Given the description of an element on the screen output the (x, y) to click on. 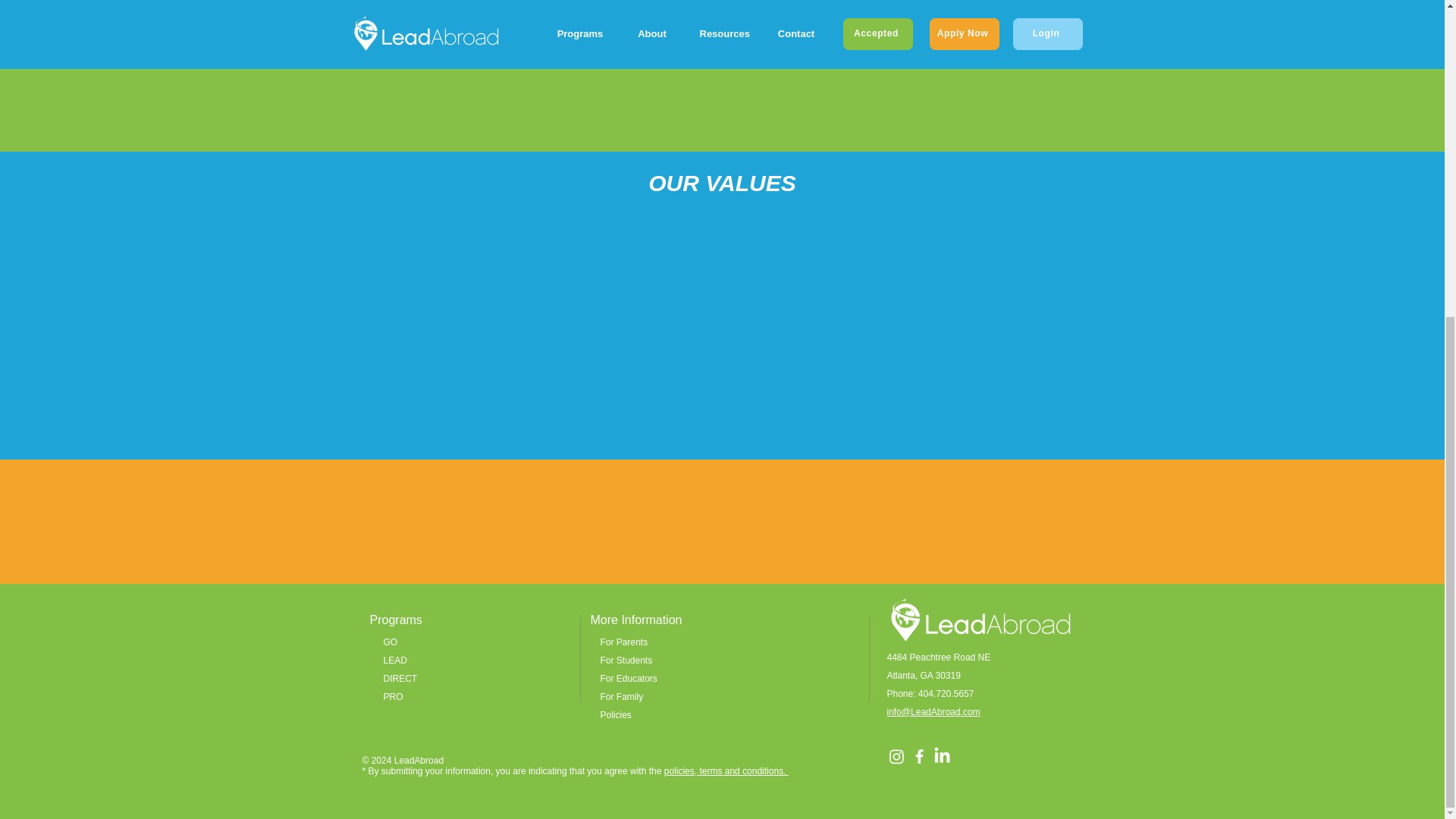
GO (390, 642)
Programs (395, 619)
LEAD (395, 660)
